Given the description of an element on the screen output the (x, y) to click on. 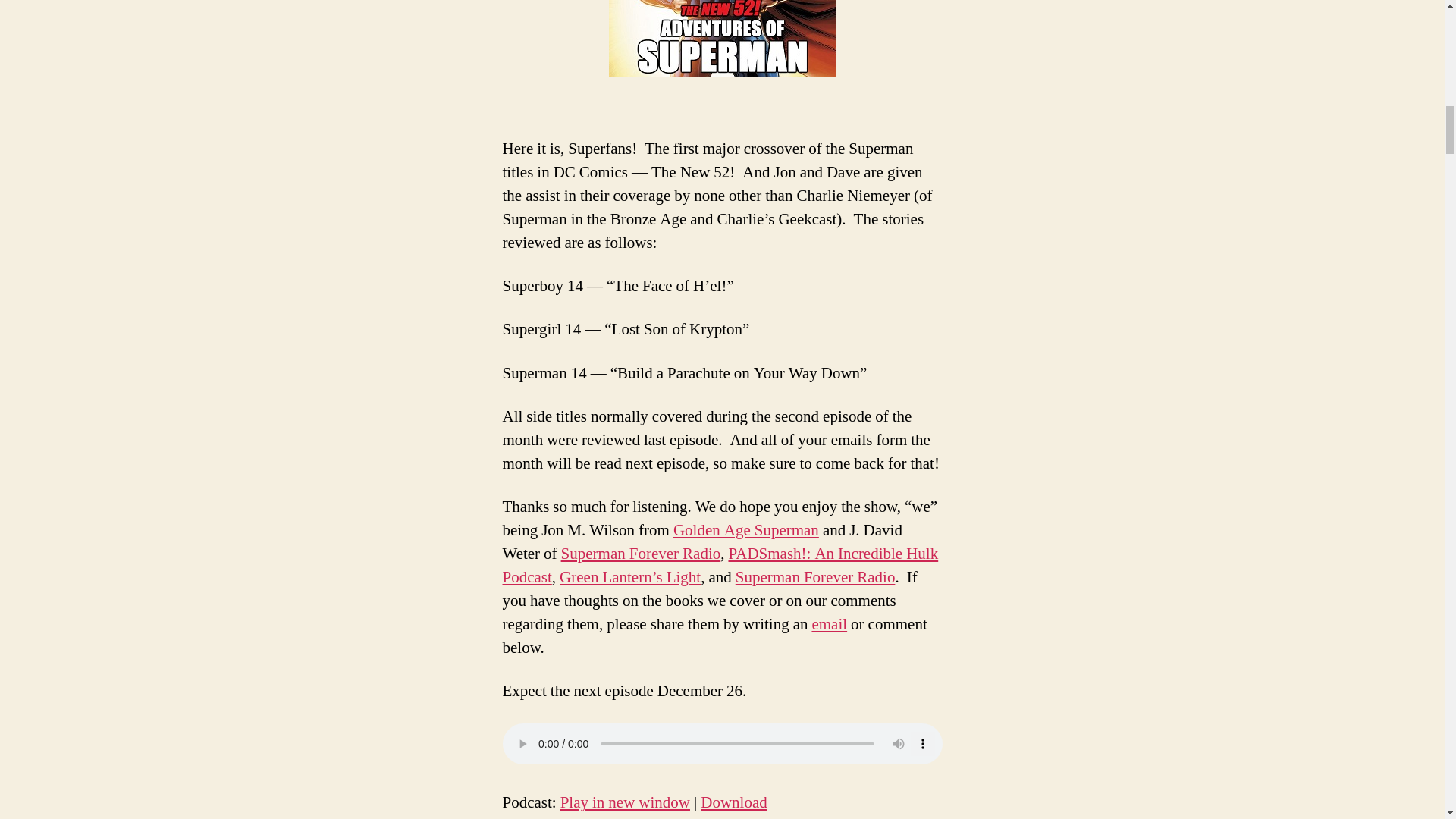
Download (733, 802)
Golden Age Superman (745, 530)
Play in new window (625, 802)
Play in new window (625, 802)
Superman Forever Radio (815, 577)
Superman Forever Radio (640, 553)
email (828, 624)
Download (733, 802)
PADSmash!: An Incredible Hulk Podcast (719, 565)
